Given the description of an element on the screen output the (x, y) to click on. 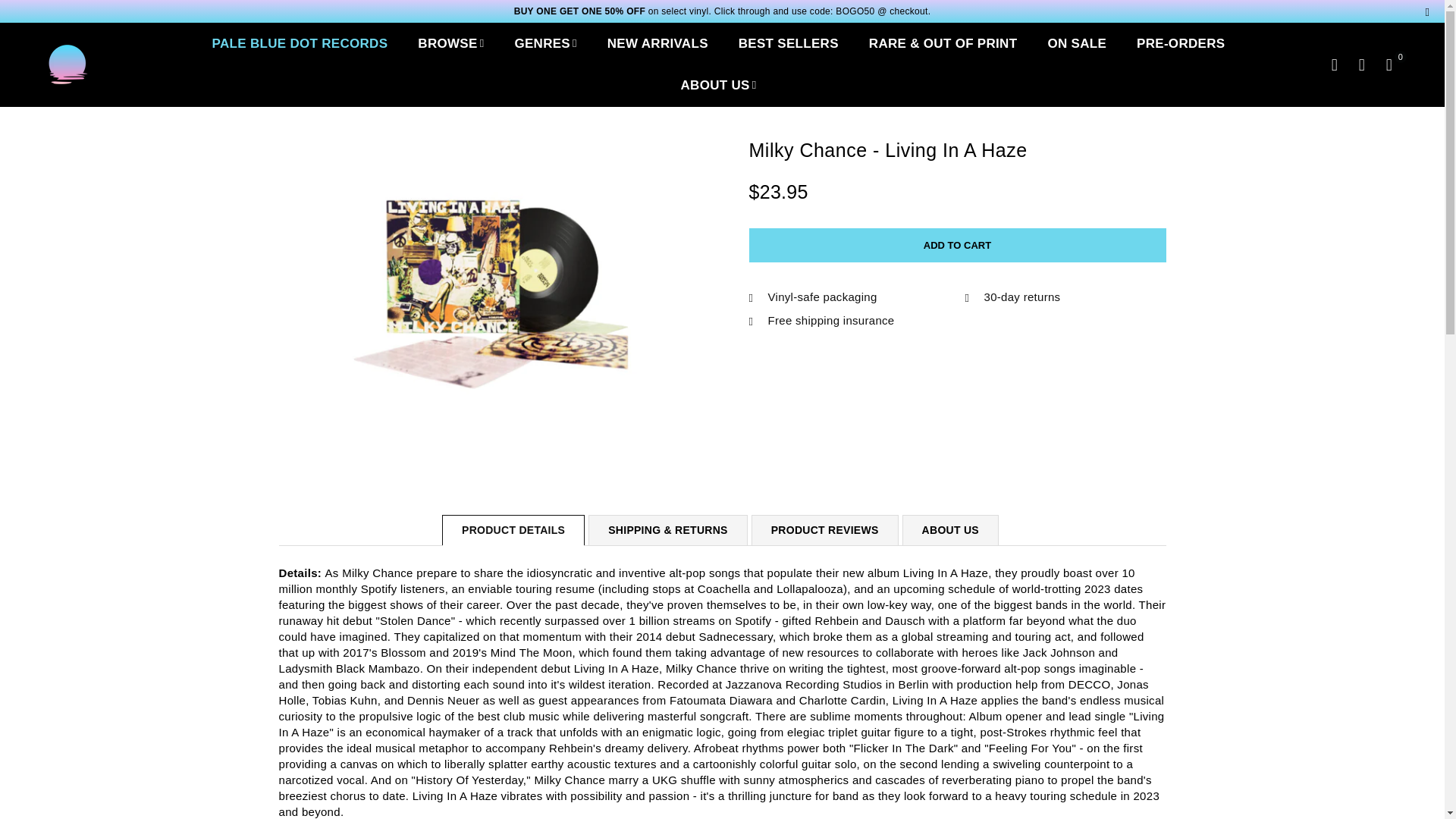
PALE BLUE DOT RECORDS (299, 43)
ON SALE (1076, 43)
ABOUT US (718, 85)
Settings (1361, 63)
BROWSE (450, 43)
GENRES (545, 43)
BEST SELLERS (788, 43)
Cart (1389, 63)
Search (1334, 63)
PRE-ORDERS (1180, 43)
